Given the description of an element on the screen output the (x, y) to click on. 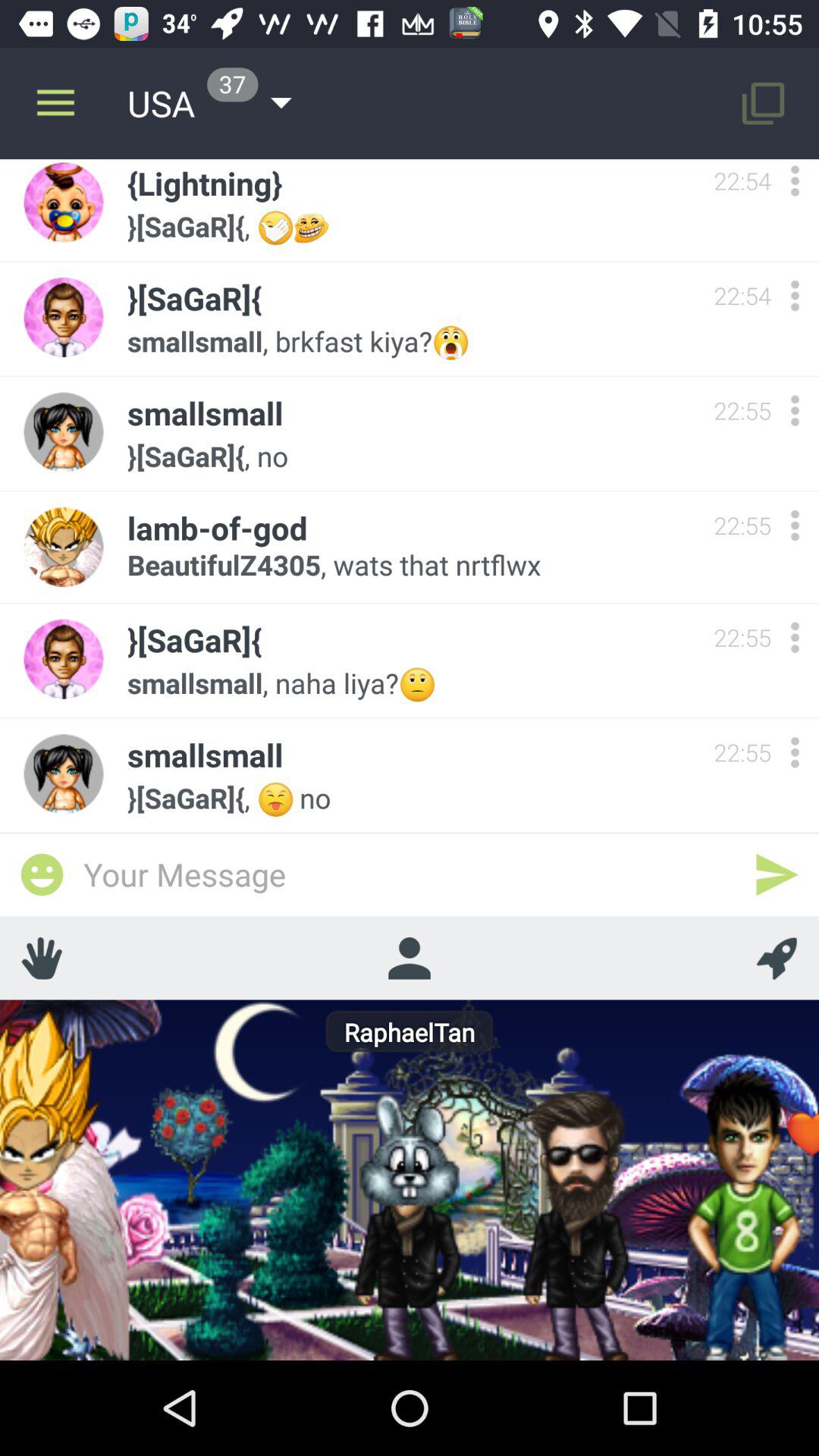
apps (795, 637)
